Given the description of an element on the screen output the (x, y) to click on. 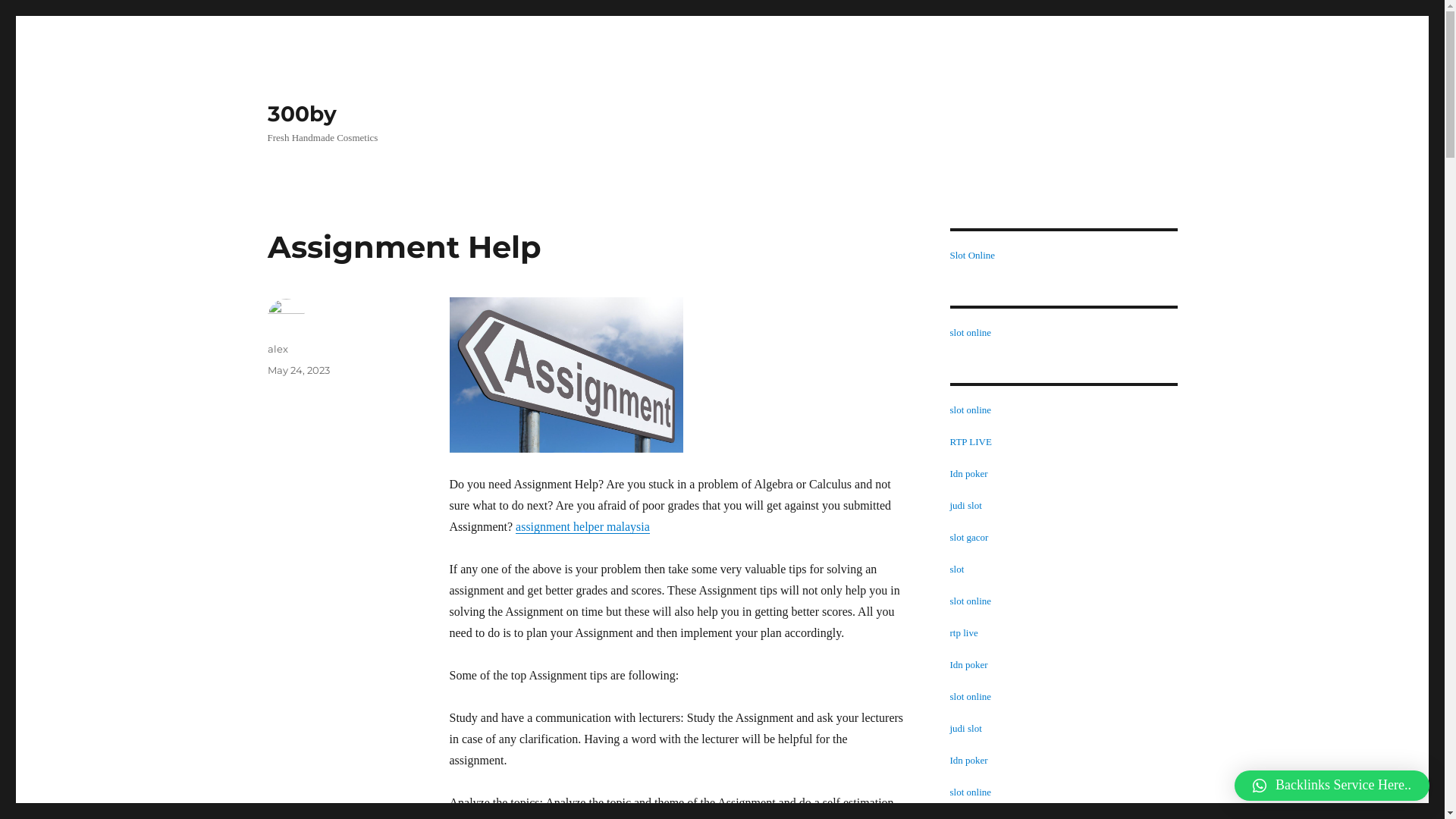
May 24, 2023 Element type: text (297, 370)
slot Element type: text (956, 568)
slot gacor Element type: text (968, 536)
assignment helper malaysia Element type: text (582, 526)
Idn poker Element type: text (968, 473)
Slot Online Element type: text (971, 254)
slot online Element type: text (970, 332)
slot online Element type: text (970, 409)
Backlinks Service Here.. Element type: text (1331, 785)
Idn poker Element type: text (968, 664)
rtp live Element type: text (963, 632)
slot online Element type: text (970, 600)
alex Element type: text (276, 348)
300by Element type: text (300, 113)
RTP LIVE Element type: text (970, 441)
slot online Element type: text (970, 696)
judi slot Element type: text (965, 505)
slot online Element type: text (970, 791)
Idn poker Element type: text (968, 759)
judi slot Element type: text (965, 728)
